Given the description of an element on the screen output the (x, y) to click on. 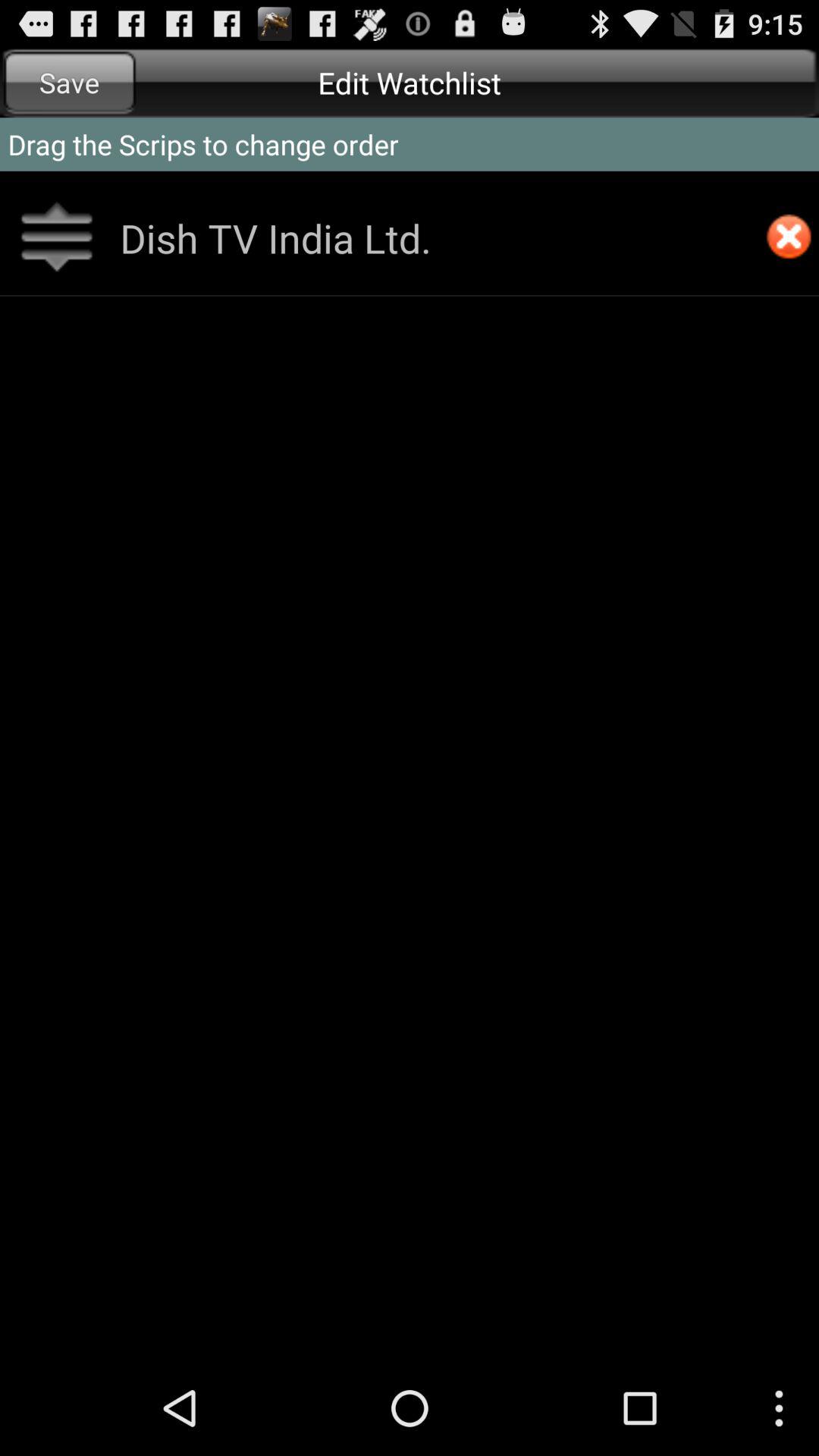
tap save item (69, 82)
